Given the description of an element on the screen output the (x, y) to click on. 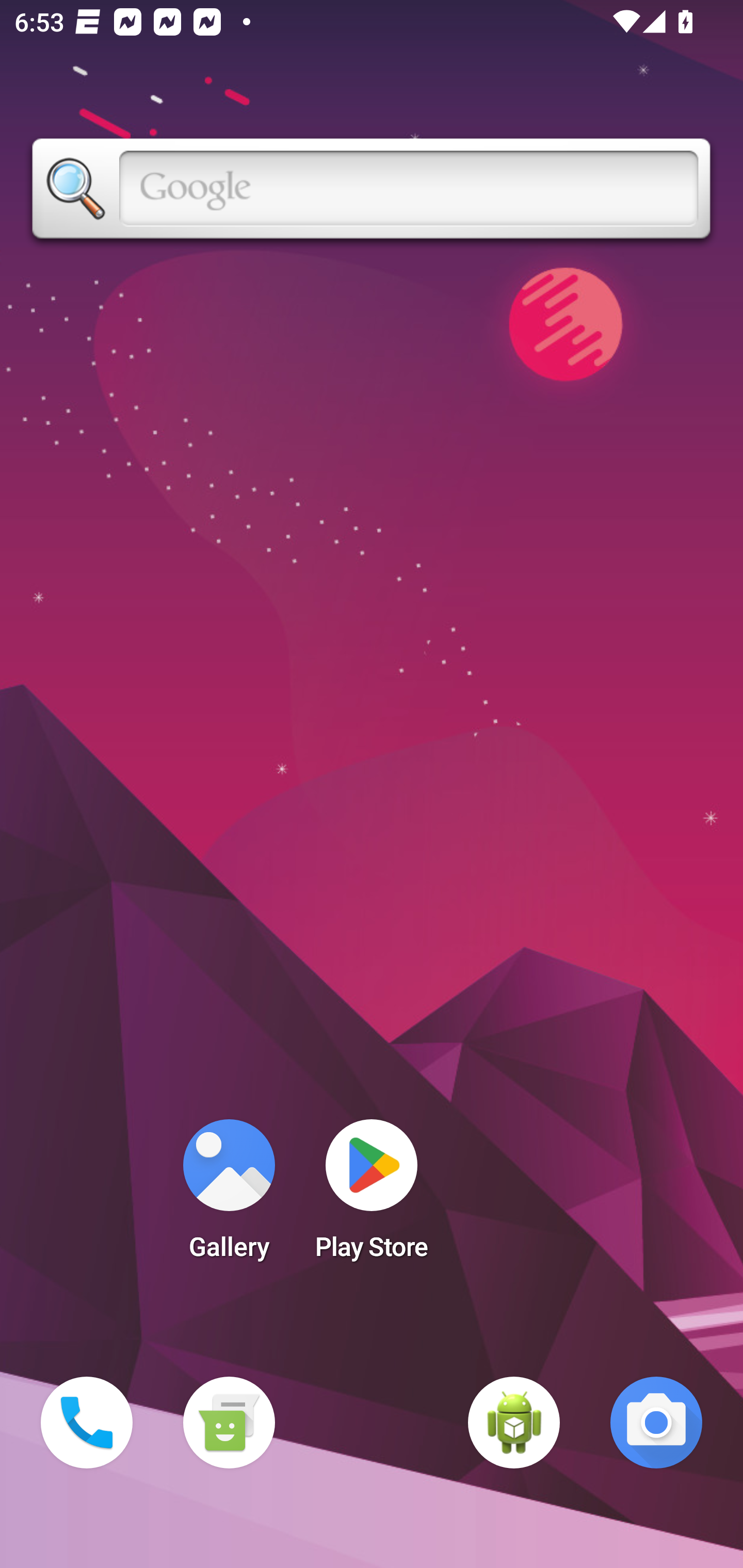
Gallery (228, 1195)
Play Store (371, 1195)
Phone (86, 1422)
Messaging (228, 1422)
WebView Browser Tester (513, 1422)
Camera (656, 1422)
